Given the description of an element on the screen output the (x, y) to click on. 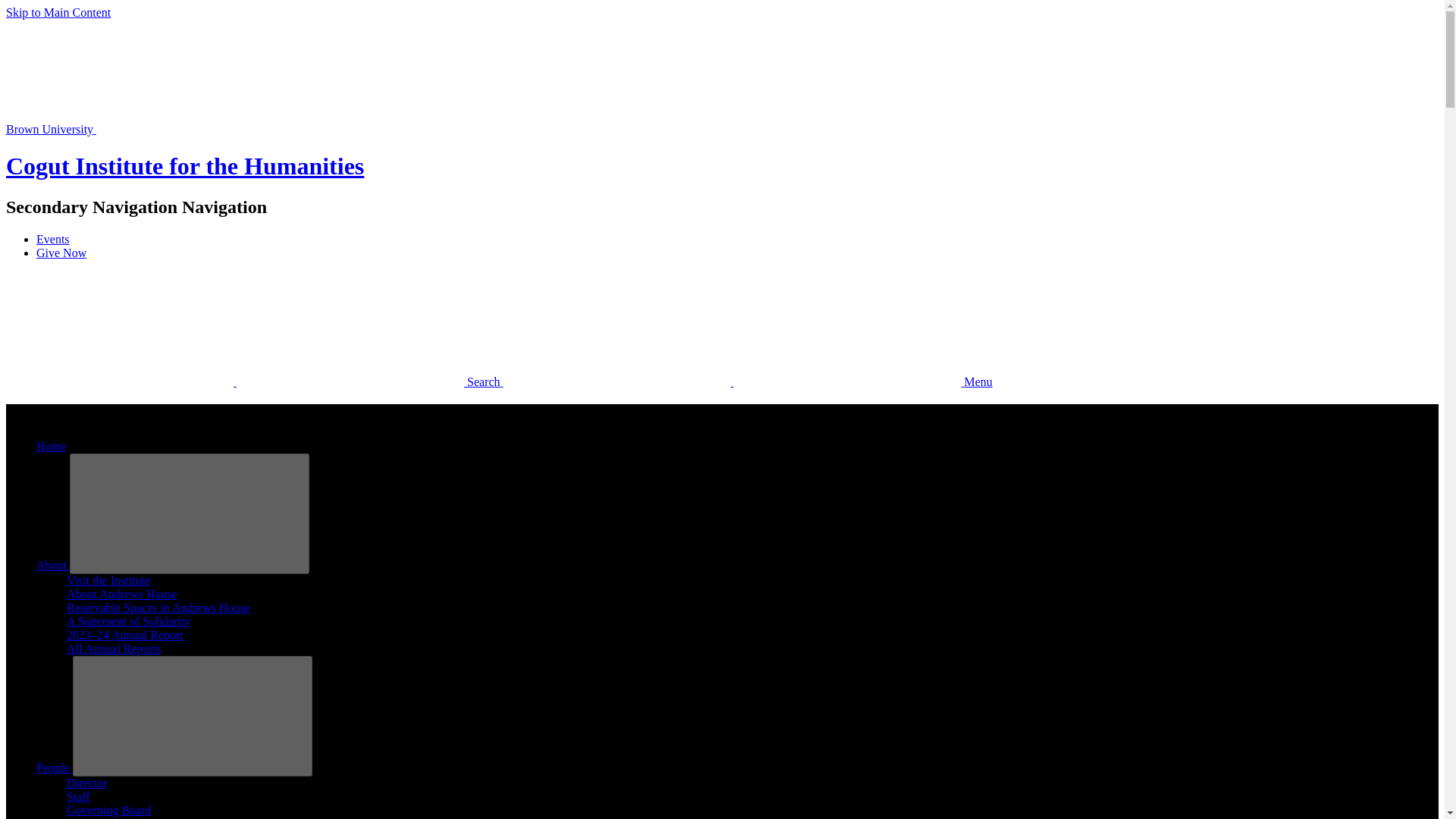
About (52, 564)
Cogut Institute for the Humanities (184, 165)
Events (52, 238)
Brown University (164, 128)
Director (86, 782)
Visit the Institute (107, 580)
Reservable Spaces in Andrews House (158, 607)
Governing Board (108, 809)
A Statement of Solidarity (128, 621)
About Andrews House (121, 594)
